Given the description of an element on the screen output the (x, y) to click on. 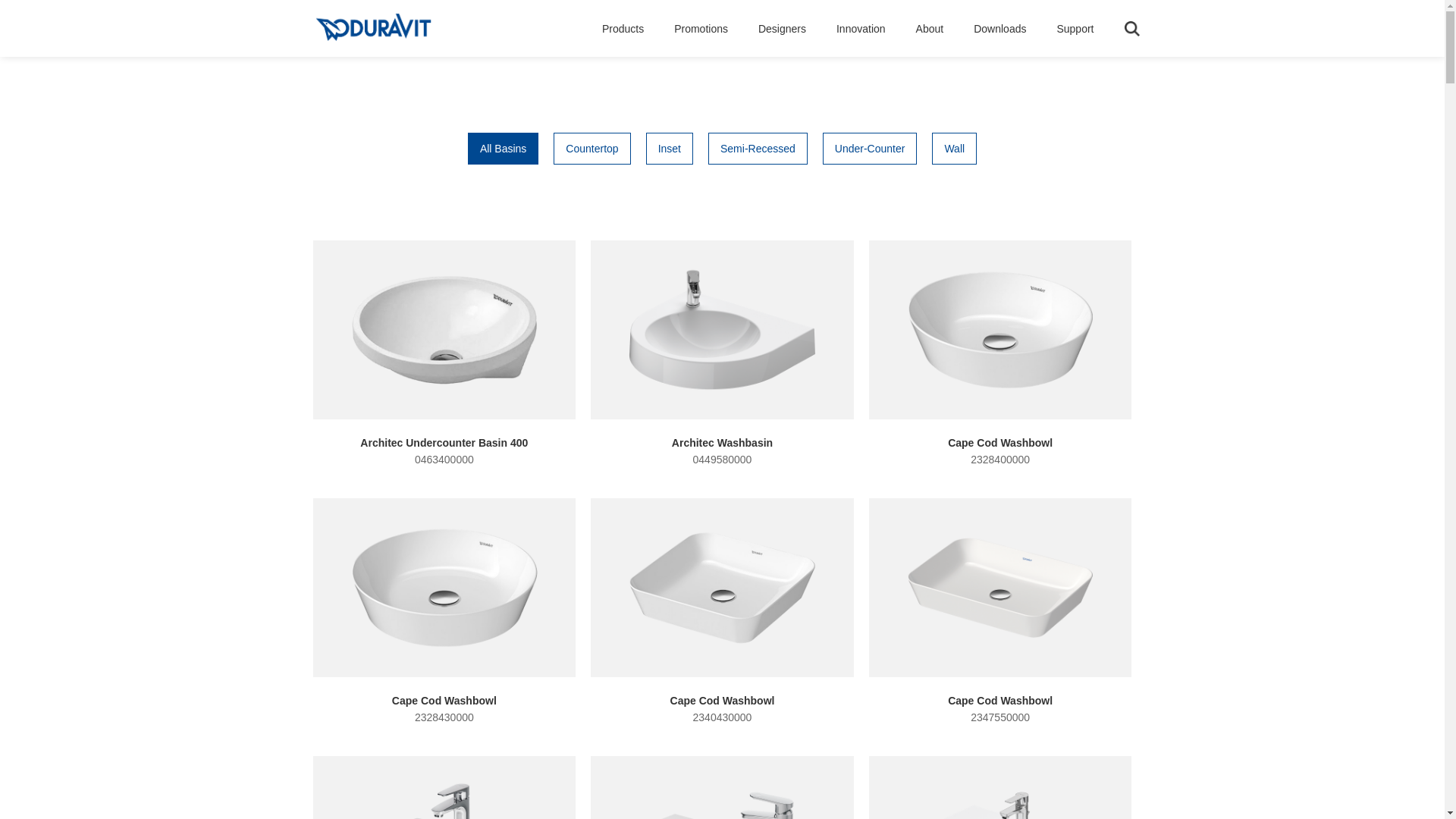
Inset Element type: text (669, 148)
Designers Element type: text (782, 28)
Architec Undercounter Basin 400
0463400000 Element type: text (443, 353)
Semi-Recessed Element type: text (757, 148)
Cape Cod Washbowl
2340430000 Element type: text (721, 611)
Under-Counter Element type: text (869, 148)
All Basins Element type: text (502, 148)
Architec Washbasin
0449580000 Element type: text (721, 353)
Countertop Element type: text (591, 148)
Cape Cod Washbowl
2328400000 Element type: text (1000, 353)
Cape Cod Washbowl
2347550000 Element type: text (1000, 611)
Products Element type: text (622, 28)
Promotions Element type: text (700, 28)
Wall Element type: text (953, 148)
Cape Cod Washbowl
2328430000 Element type: text (443, 611)
